Given the description of an element on the screen output the (x, y) to click on. 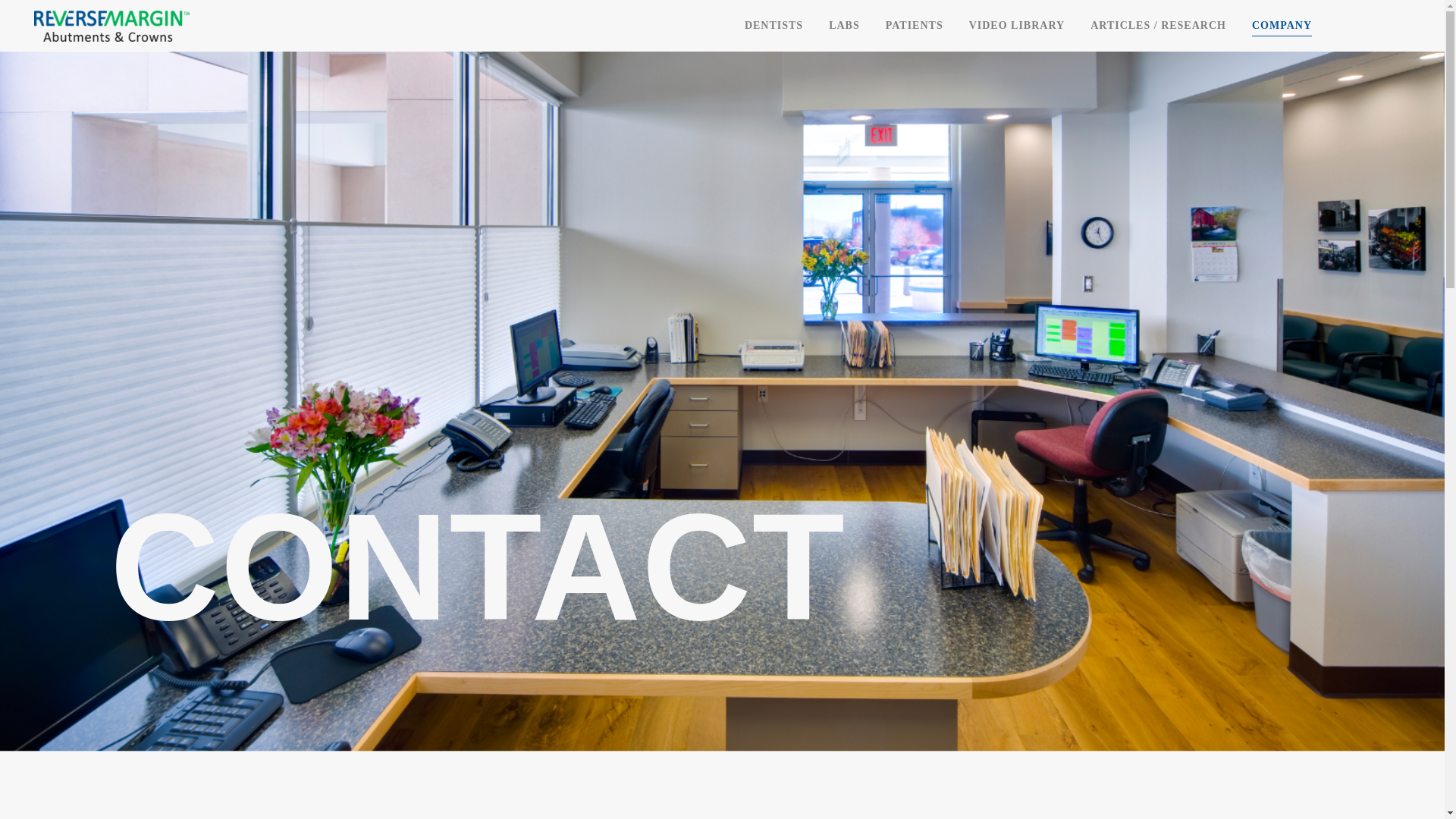
DENTISTS (773, 25)
LABS (843, 25)
VIDEO LIBRARY (1016, 25)
COMPANY (1281, 25)
PATIENTS (914, 25)
